Given the description of an element on the screen output the (x, y) to click on. 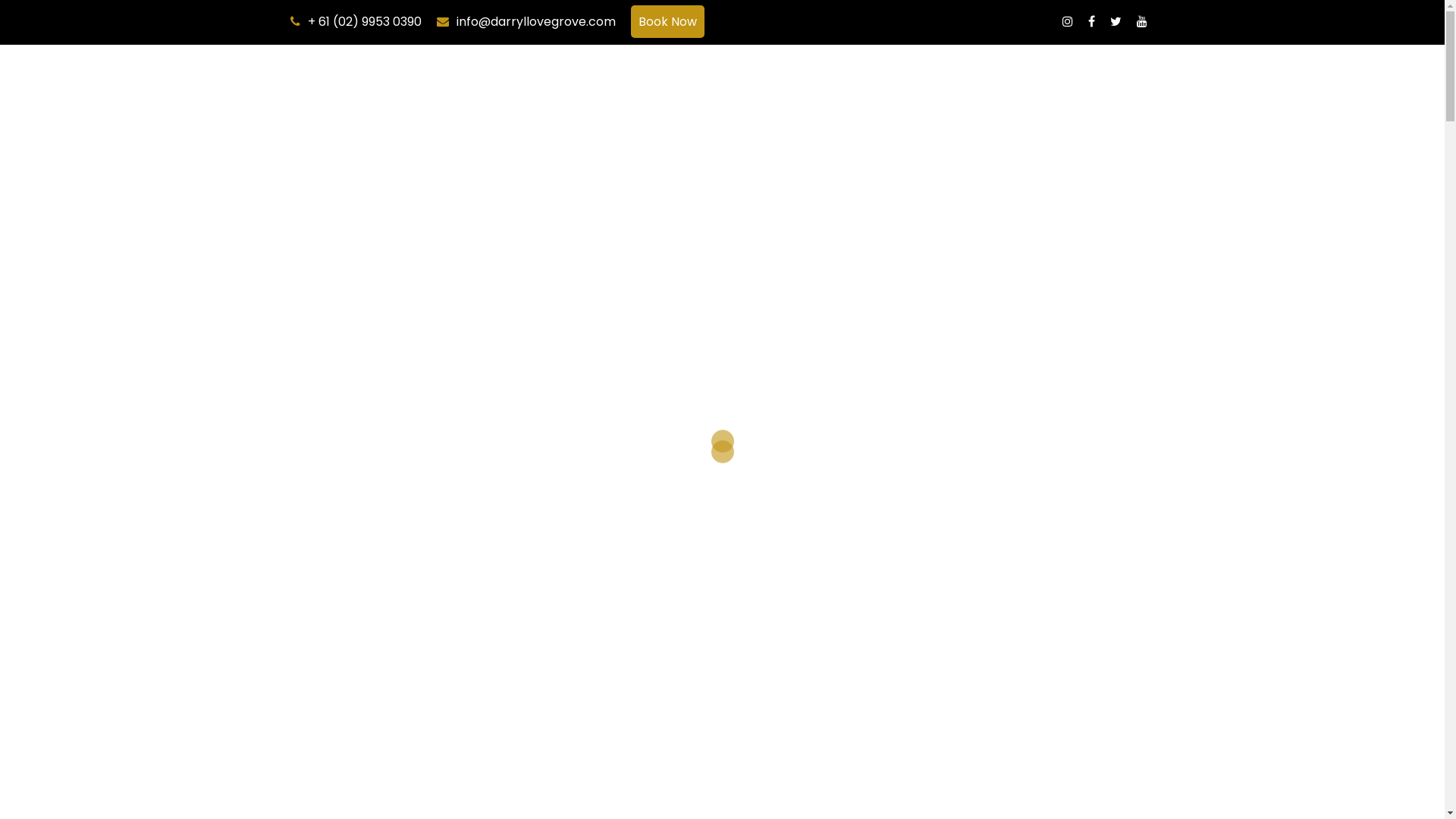
info@darryllovegrove.com Element type: text (535, 21)
Instagram Element type: text (1066, 21)
EMCEE
SERVICES Element type: text (959, 83)
Search Element type: text (48, 18)
+ 61 (02) 9953 0390 Element type: text (364, 21)
Lovegrove Event Entertainment Element type: text (766, 301)
OUR
SHOWS Element type: text (634, 83)
weddings  Element type: text (663, 242)
You Tube Element type: text (1141, 21)
Lovegrove Event Entertainment Agency Sydney Element type: hover (396, 82)
Skip to content Element type: text (0, 44)
WEDDING
ENTERTAINMENT Element type: text (871, 83)
EMAIL US Element type: text (730, 433)
TAILORED
SHOWS Element type: text (782, 83)
CORPORATE
EVENTS Element type: text (705, 83)
CALL (02) 9953 0390 Element type: text (619, 433)
Lovegrove Event Entertainment Element type: text (921, 198)
Twitter Element type: text (1115, 21)
Facebook Element type: text (1090, 21)
portfolio Element type: text (586, 359)
charity fundraisers Element type: text (1059, 220)
gala dinners Element type: text (878, 220)
Australian event entertainment solutions Element type: text (916, 359)
private parties Element type: text (762, 242)
corporate events Element type: text (784, 220)
TIPS &
EVENT NEWS Element type: text (1037, 83)
Book Now Element type: text (667, 21)
award nights Element type: text (958, 220)
CONTACT
& QUOTES Element type: text (1118, 83)
custom performance Element type: text (1074, 279)
